Given the description of an element on the screen output the (x, y) to click on. 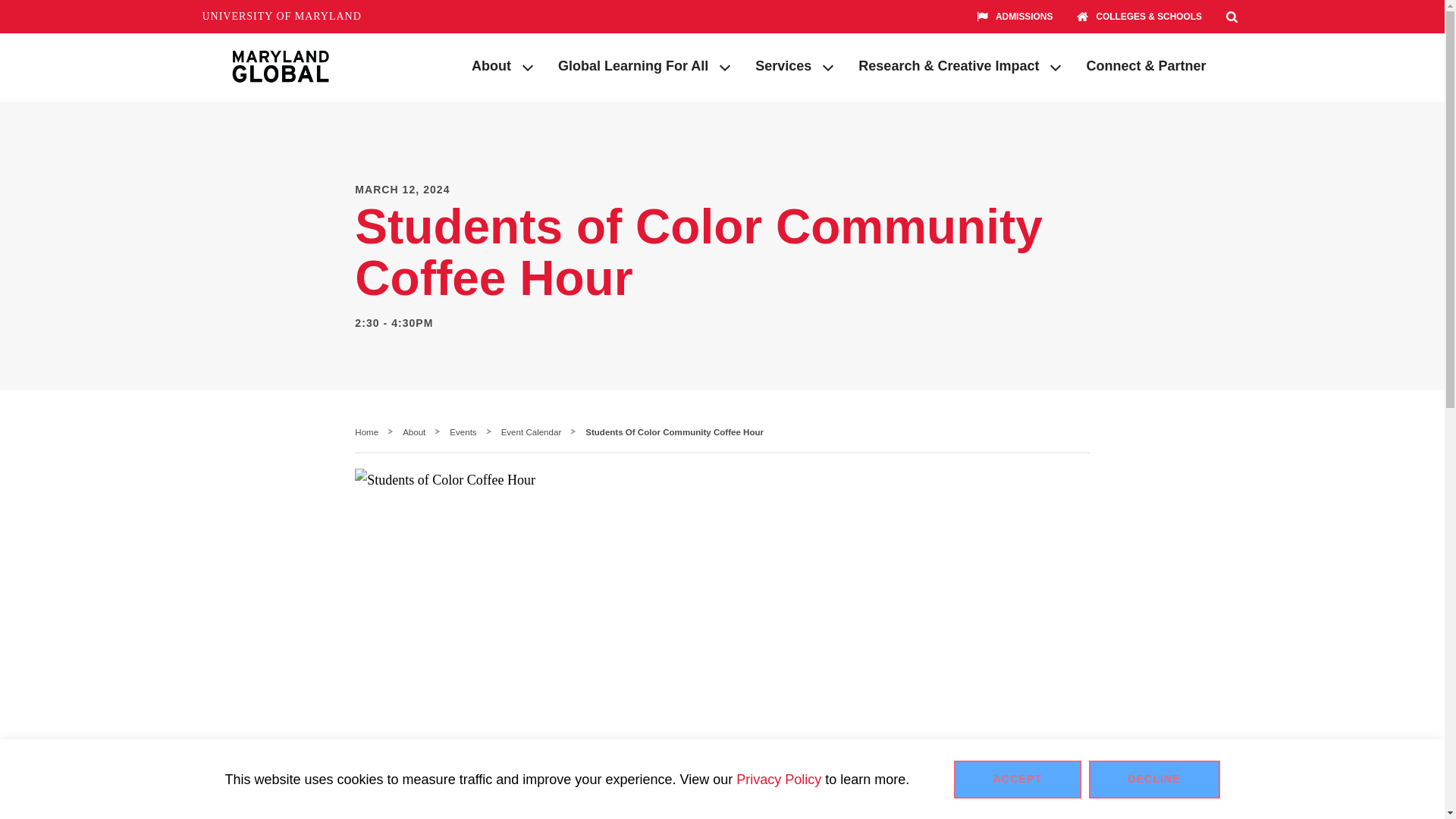
Home (366, 431)
FLAG (985, 16)
UNIVERSITY OF MARYLAND (281, 16)
Submit (1195, 48)
Search (1232, 16)
Services (775, 66)
Global Learning For All (625, 66)
SCHOOL (1086, 16)
About (484, 66)
